Given the description of an element on the screen output the (x, y) to click on. 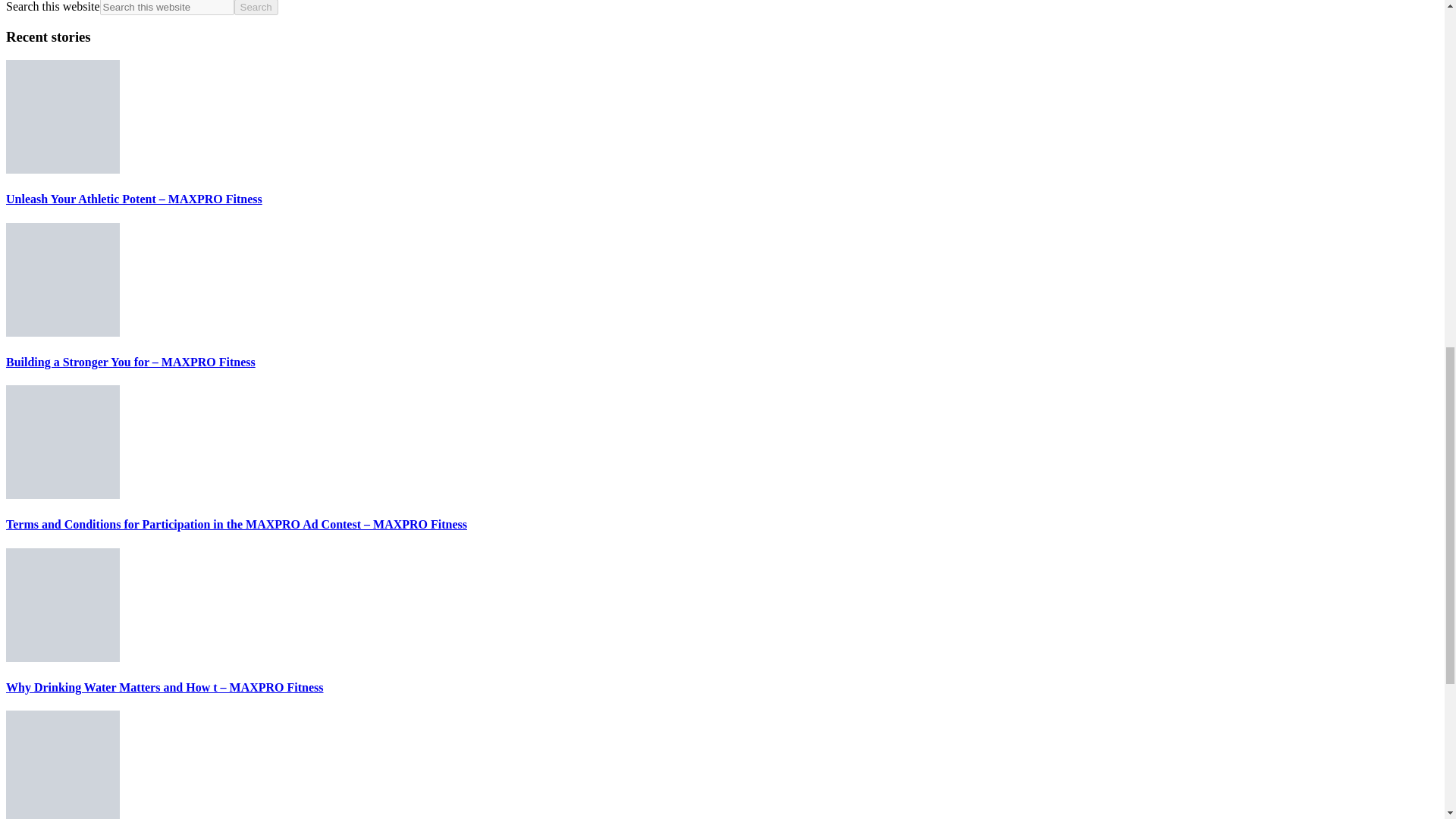
Search (256, 7)
Search (256, 7)
Search (256, 7)
